Given the description of an element on the screen output the (x, y) to click on. 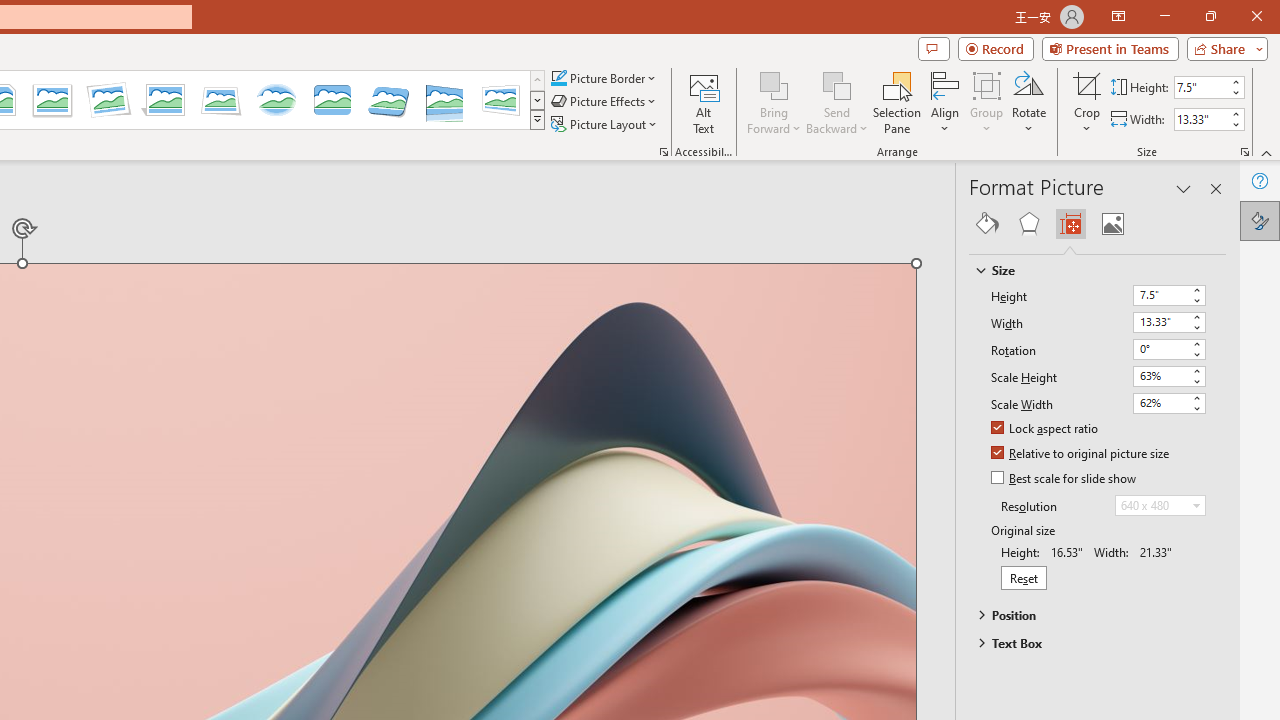
Open (1195, 505)
Help (1260, 180)
Class: NetUIImage (537, 119)
Record (995, 48)
Height (1160, 294)
Scale Height (1160, 376)
Row up (537, 79)
Shape Width (1201, 119)
Send Backward (836, 84)
Perspective Shadow, White (164, 100)
Comments (933, 48)
Minimize (1164, 16)
Width (1160, 322)
Format Picture (1260, 220)
Alt Text (703, 102)
